Given the description of an element on the screen output the (x, y) to click on. 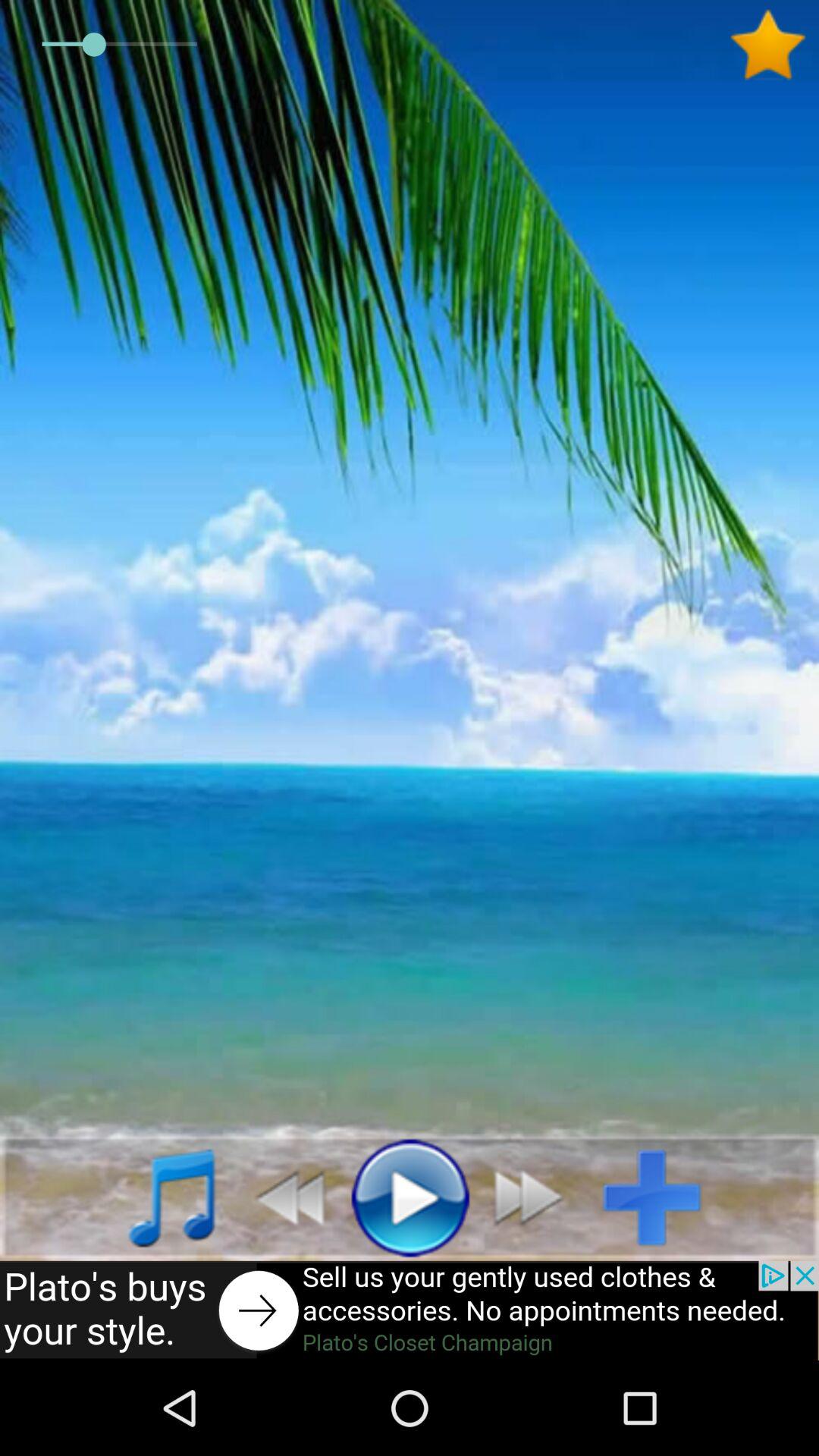
songs (154, 1196)
